Given the description of an element on the screen output the (x, y) to click on. 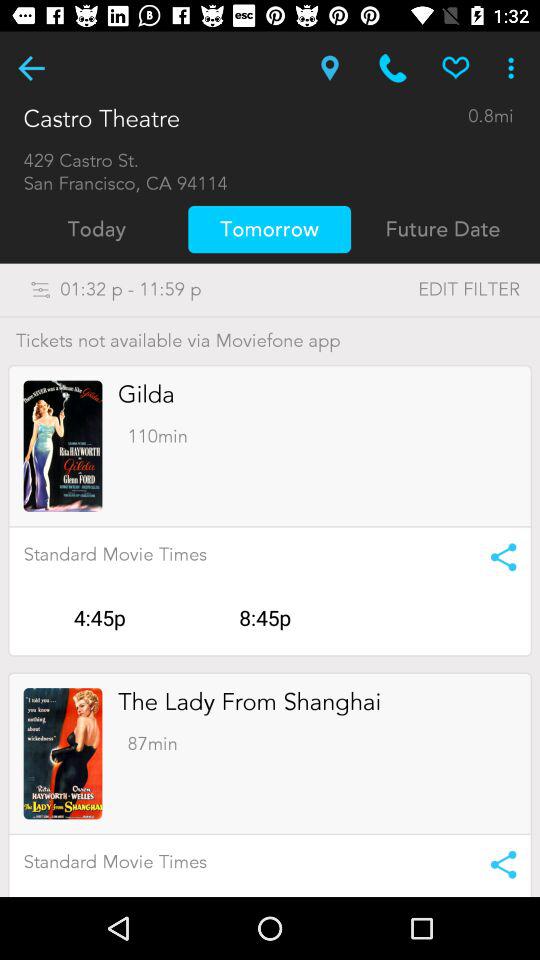
go back to the previous page (31, 67)
